Given the description of an element on the screen output the (x, y) to click on. 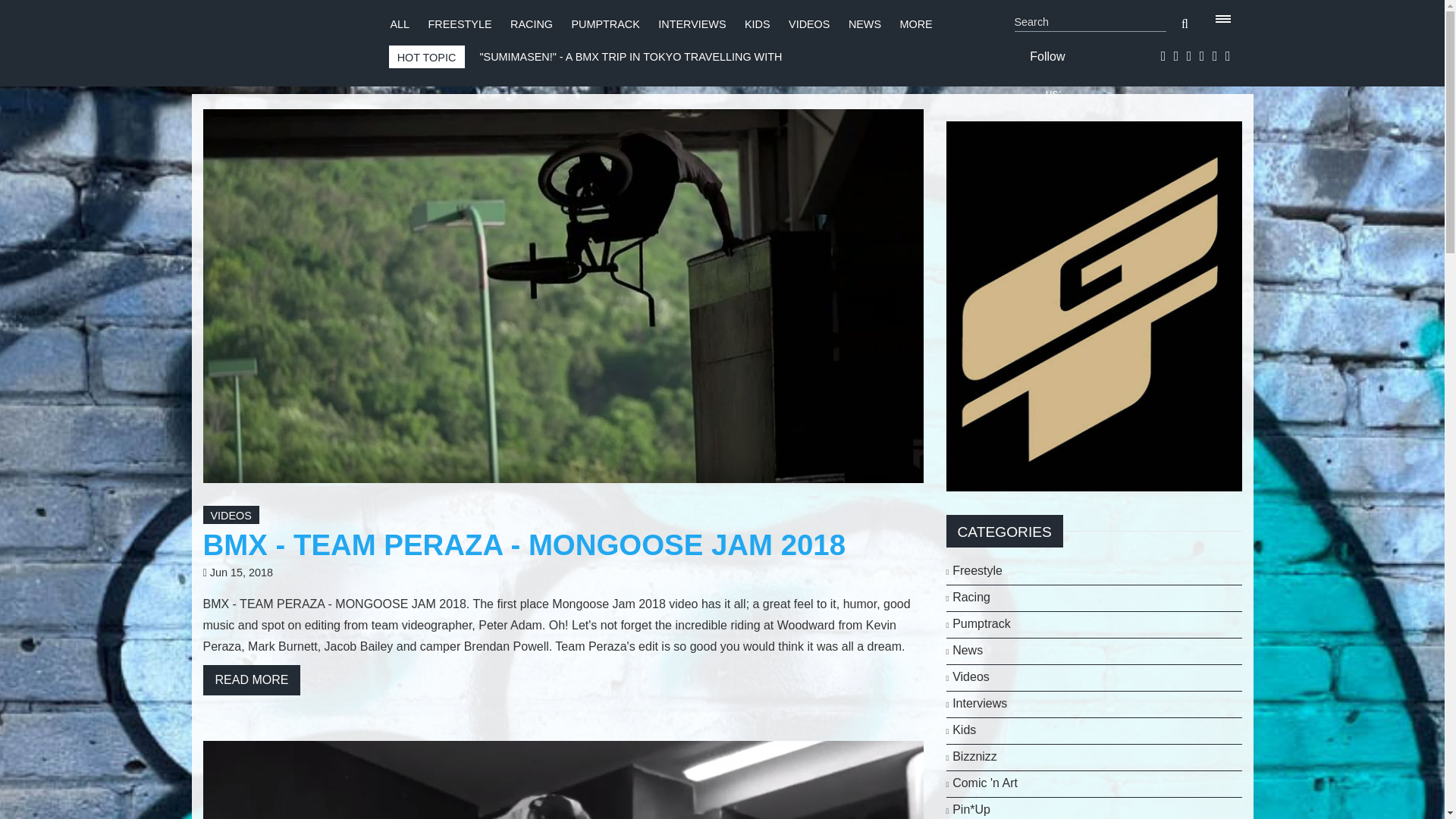
NEWS (864, 24)
RACING (532, 24)
FREESTYLE (460, 24)
INTERVIEWS (691, 24)
GT BMX (1093, 305)
search (1185, 23)
PUMPTRACK (604, 24)
ALL (399, 24)
KIDS (757, 24)
VIDEOS (809, 24)
Search (1090, 22)
search (1185, 23)
